Given the description of an element on the screen output the (x, y) to click on. 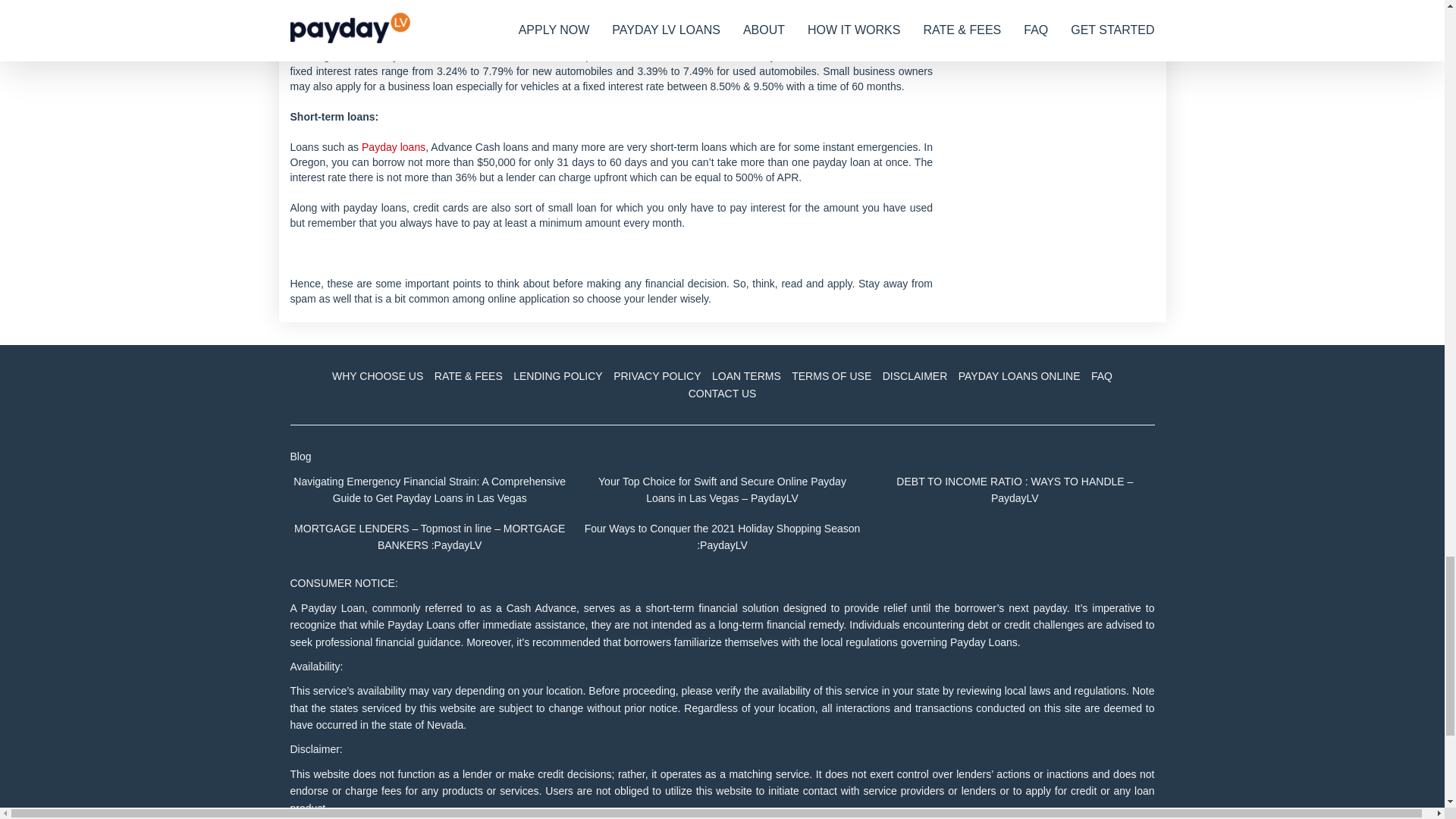
LENDING POLICY (557, 376)
DISCLAIMER (915, 376)
Payday loans (393, 146)
CONTACT US (722, 393)
FAQ (1101, 376)
PRIVACY POLICY (657, 376)
WHY CHOOSE US (377, 376)
TERMS OF USE (831, 376)
